Given the description of an element on the screen output the (x, y) to click on. 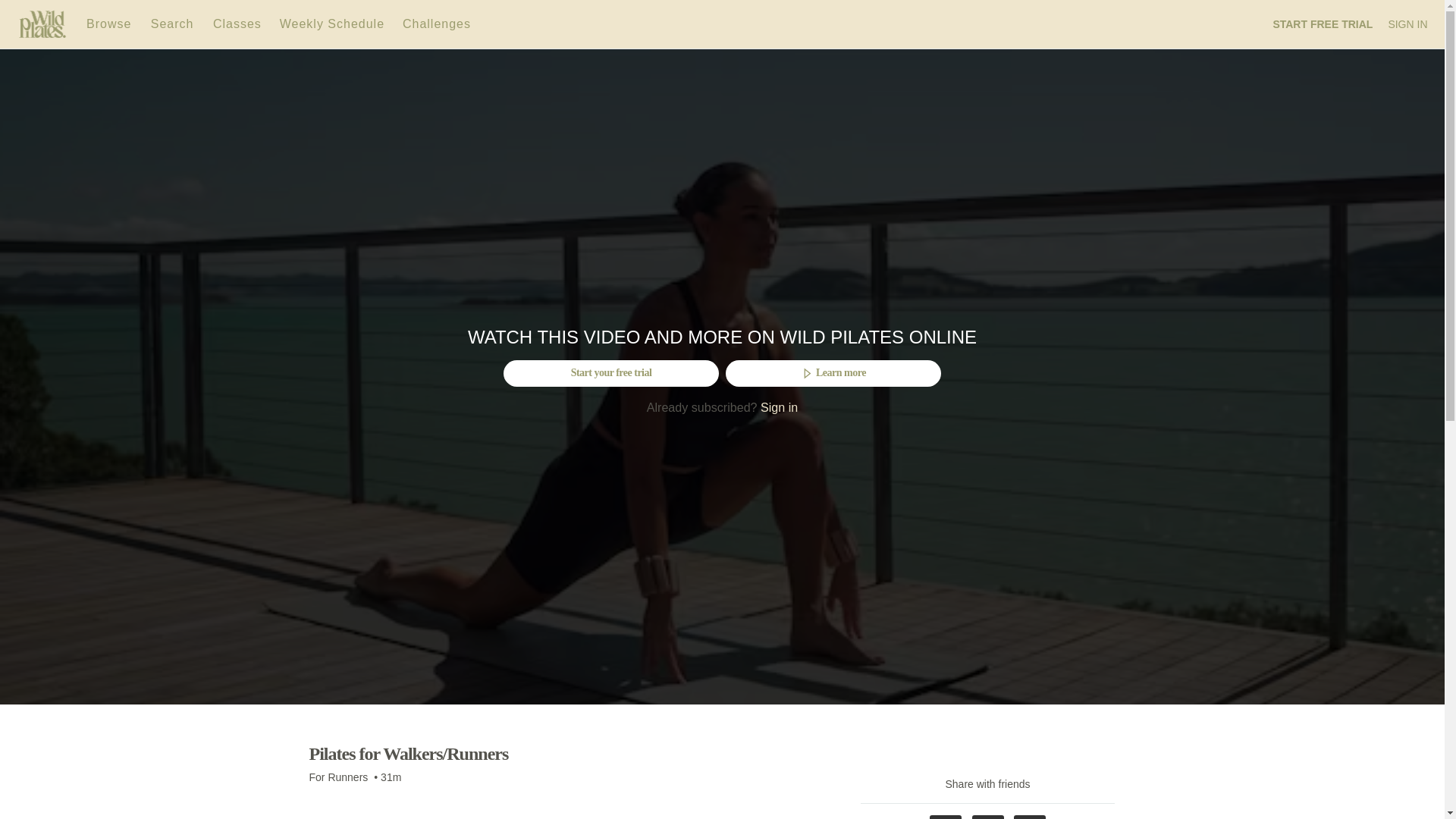
Browse (110, 23)
Search (173, 23)
Learn more (832, 373)
SIGN IN (1406, 24)
Twitter (988, 816)
Weekly Schedule (331, 23)
START FREE TRIAL (1322, 24)
Sign in (778, 407)
For Runners (338, 776)
5 comments (344, 796)
